Given the description of an element on the screen output the (x, y) to click on. 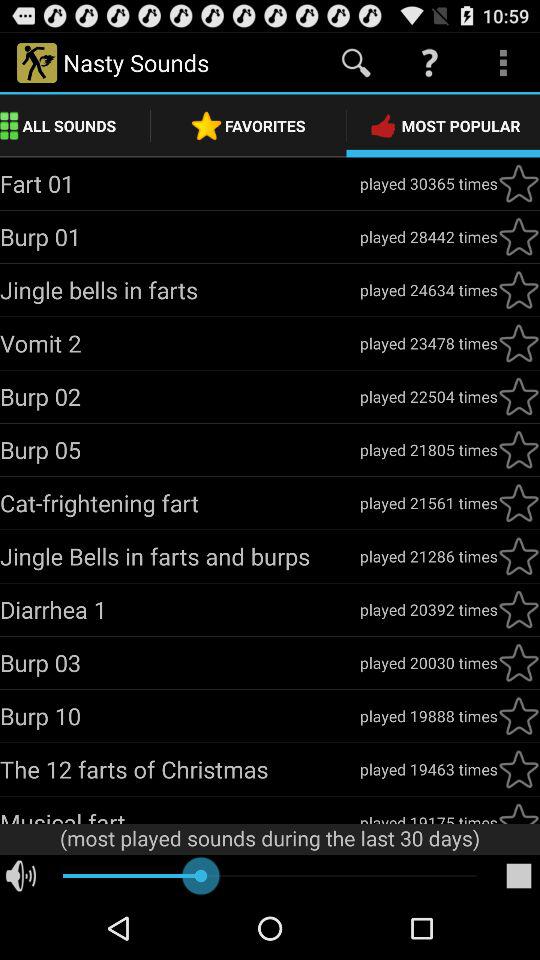
important one (519, 396)
